Given the description of an element on the screen output the (x, y) to click on. 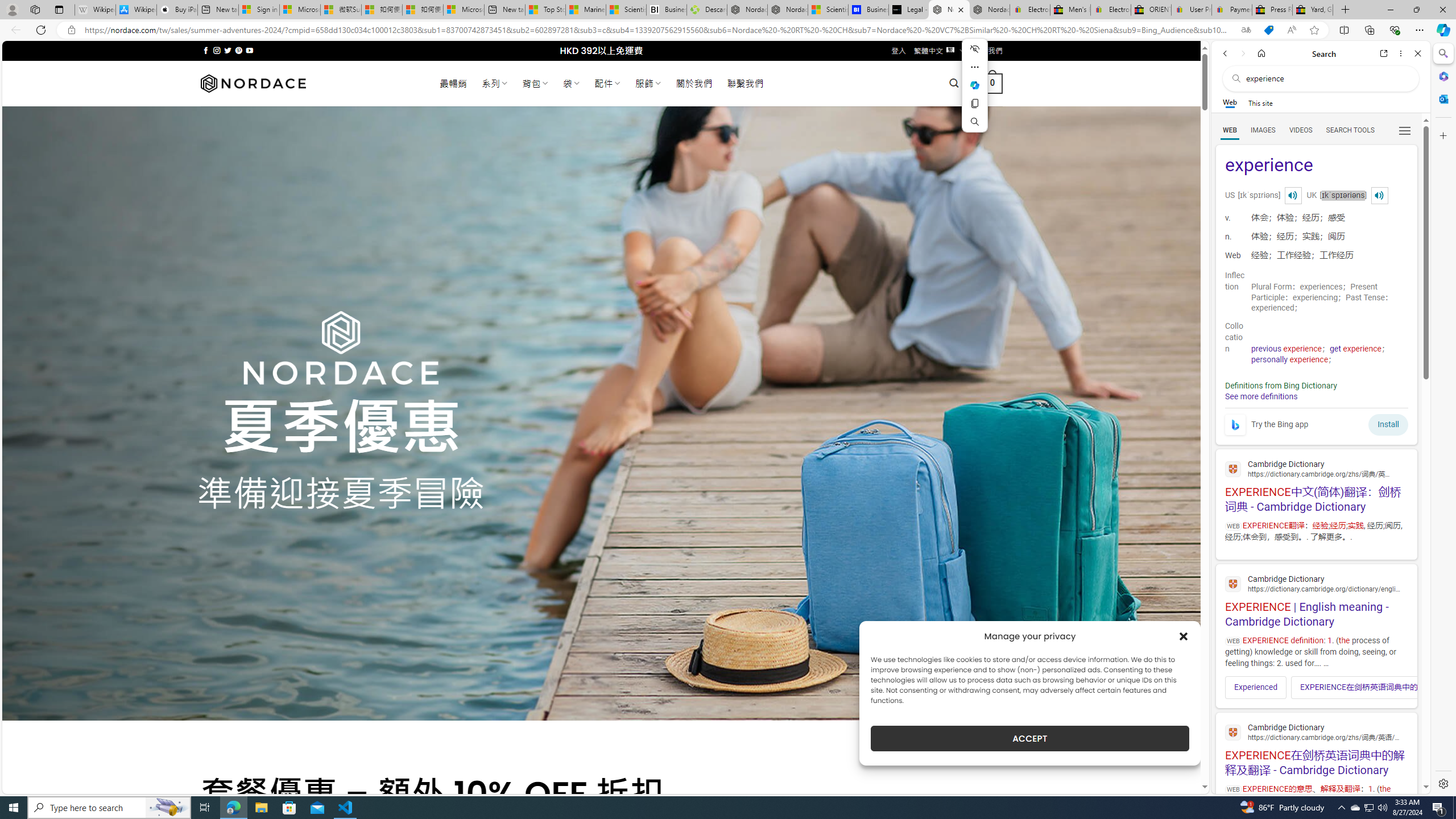
Ask Copilot (974, 85)
Mini menu on text selection (974, 84)
